Given the description of an element on the screen output the (x, y) to click on. 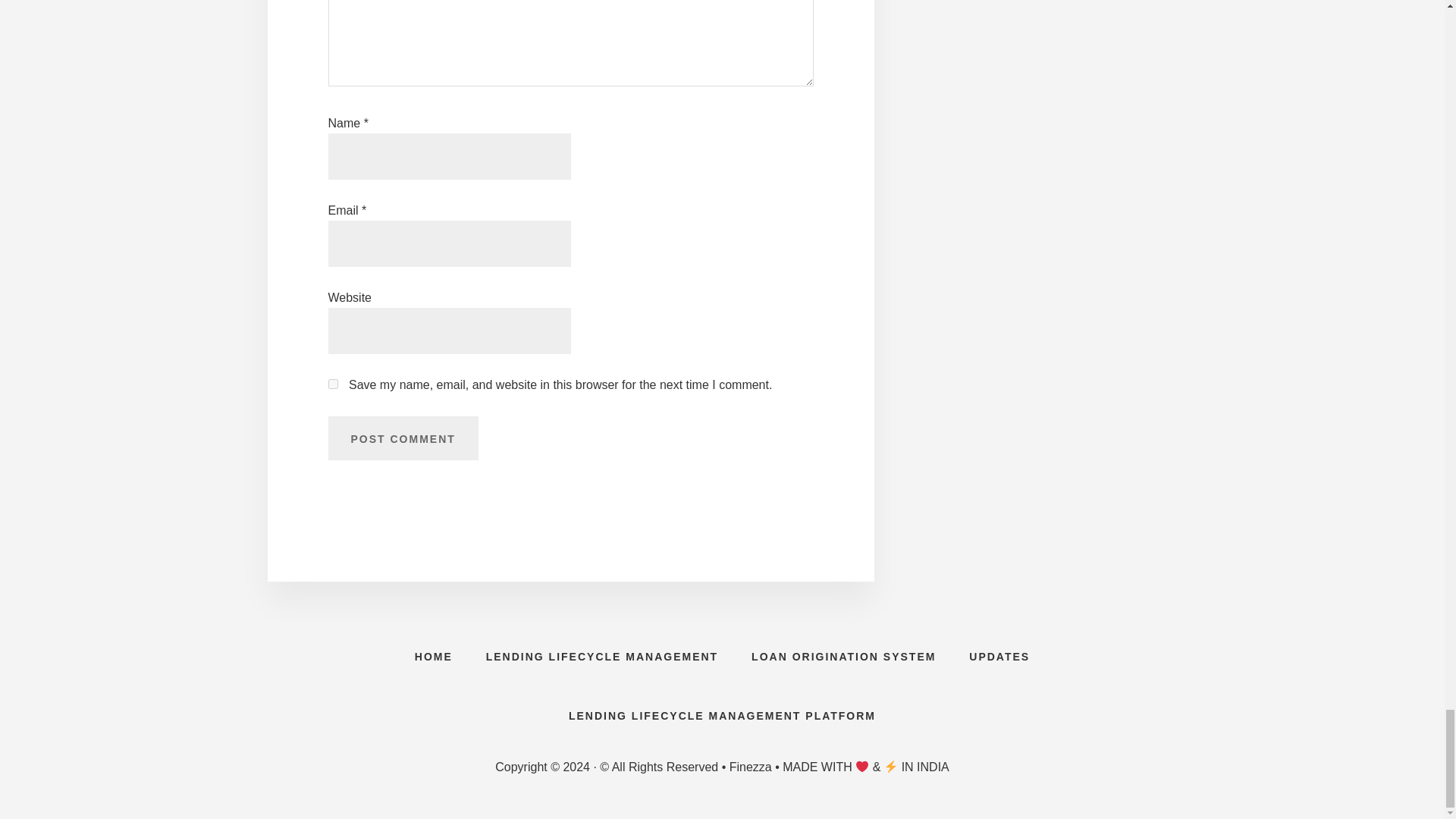
Post Comment (402, 438)
Post Comment (402, 438)
yes (332, 384)
